Given the description of an element on the screen output the (x, y) to click on. 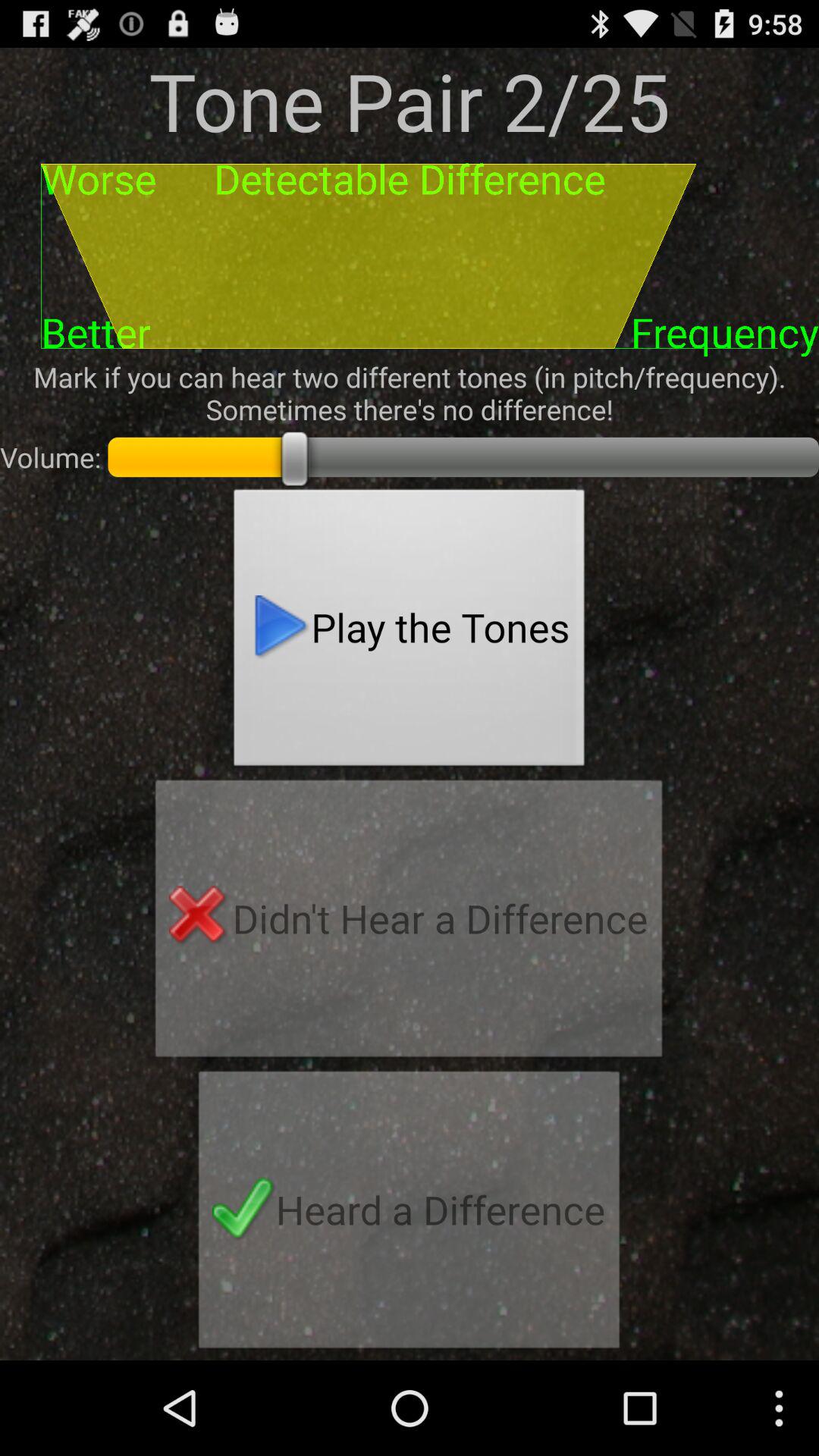
jump until the didn t hear (408, 922)
